Given the description of an element on the screen output the (x, y) to click on. 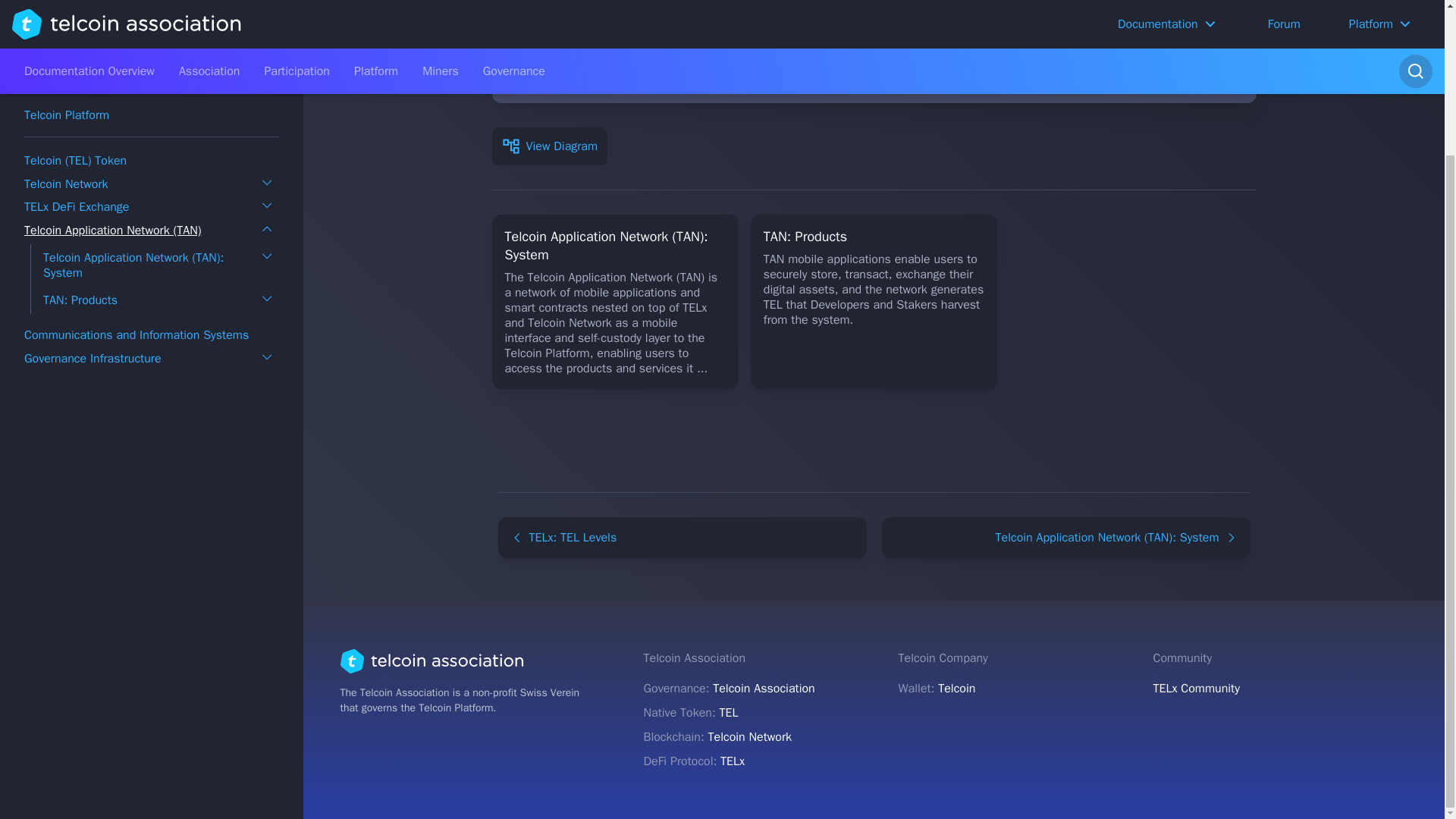
Telcoin Network (65, 52)
TELx Community (1280, 688)
TEL (728, 712)
TELx: TEL Levels (681, 536)
Telcoin Association (764, 688)
TELx DeFi Exchange (76, 74)
Telcoin Network (749, 736)
Telcoin (956, 688)
TAN: Products (80, 168)
Governance Infrastructure (92, 226)
TELx (732, 761)
Communications and Information Systems (136, 202)
